Given the description of an element on the screen output the (x, y) to click on. 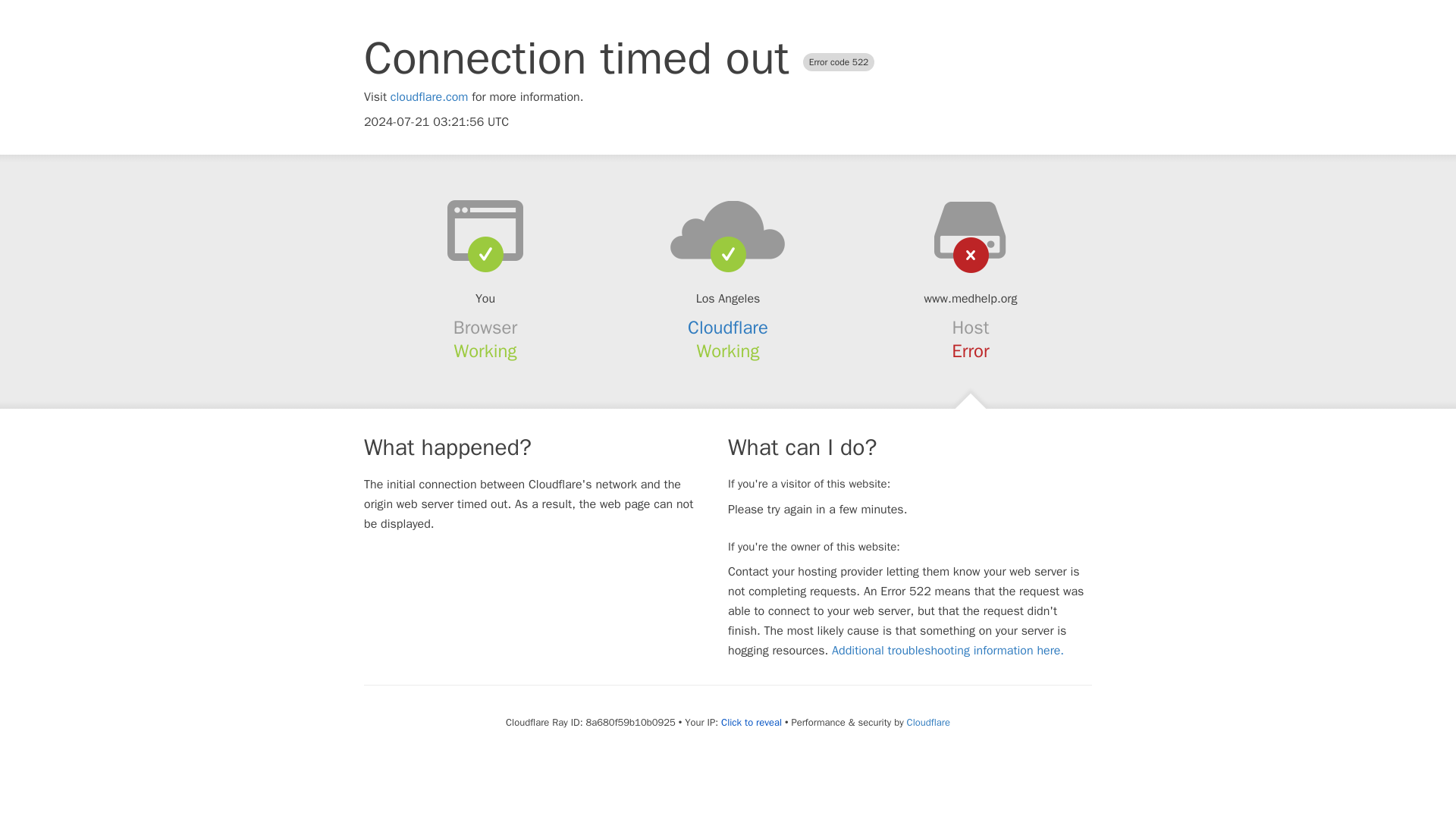
Cloudflare (727, 327)
Additional troubleshooting information here. (947, 650)
cloudflare.com (429, 96)
Cloudflare (928, 721)
Click to reveal (750, 722)
